Given the description of an element on the screen output the (x, y) to click on. 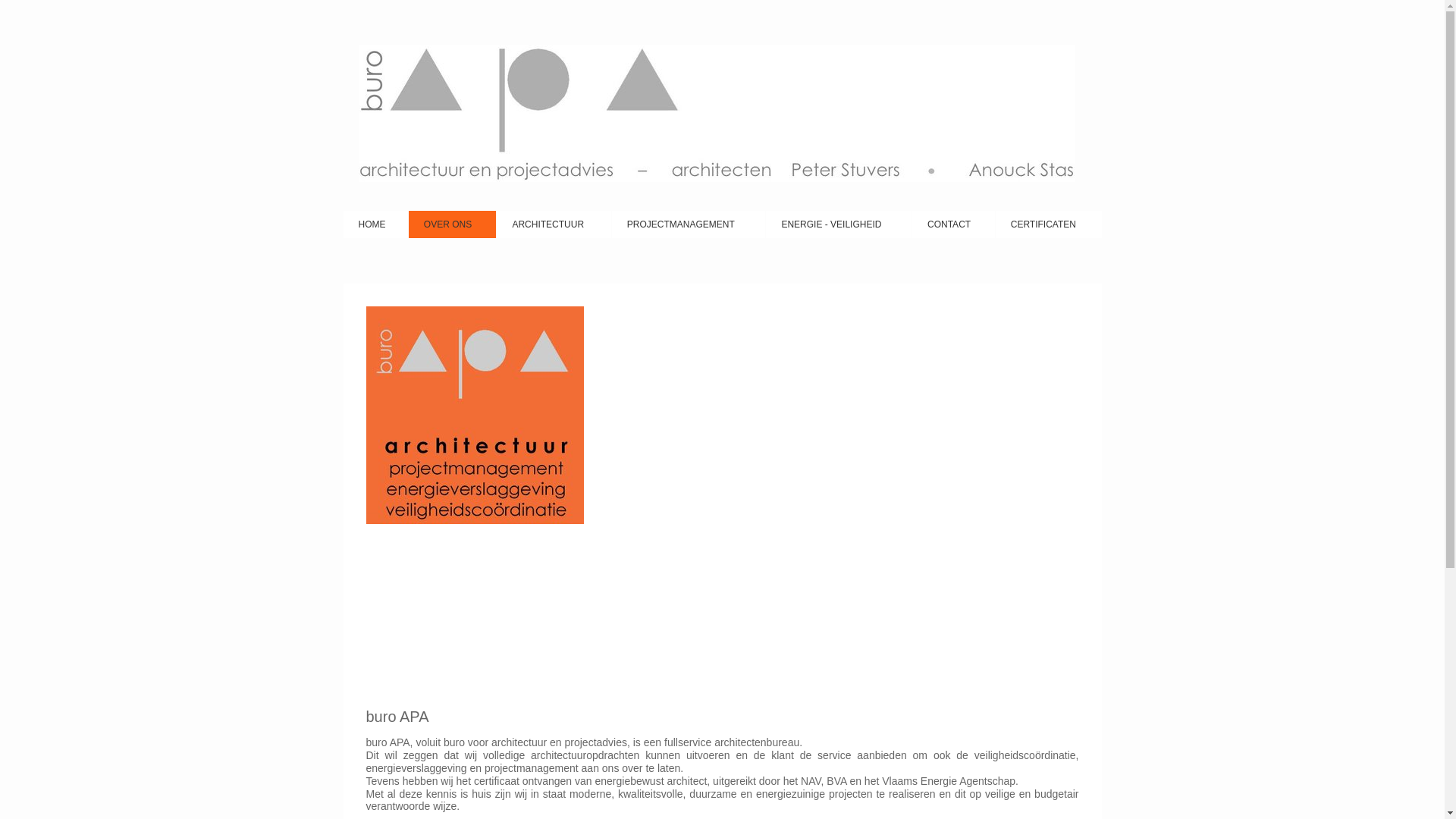
OVER ONS Element type: text (452, 224)
CONTACT Element type: text (953, 224)
HOME Element type: text (374, 224)
CERTIFICATEN Element type: text (1048, 224)
ENERGIE - VEILIGHEID Element type: text (838, 224)
PROJECTMANAGEMENT Element type: text (688, 224)
ARCHITECTUUR Element type: text (553, 224)
